Given the description of an element on the screen output the (x, y) to click on. 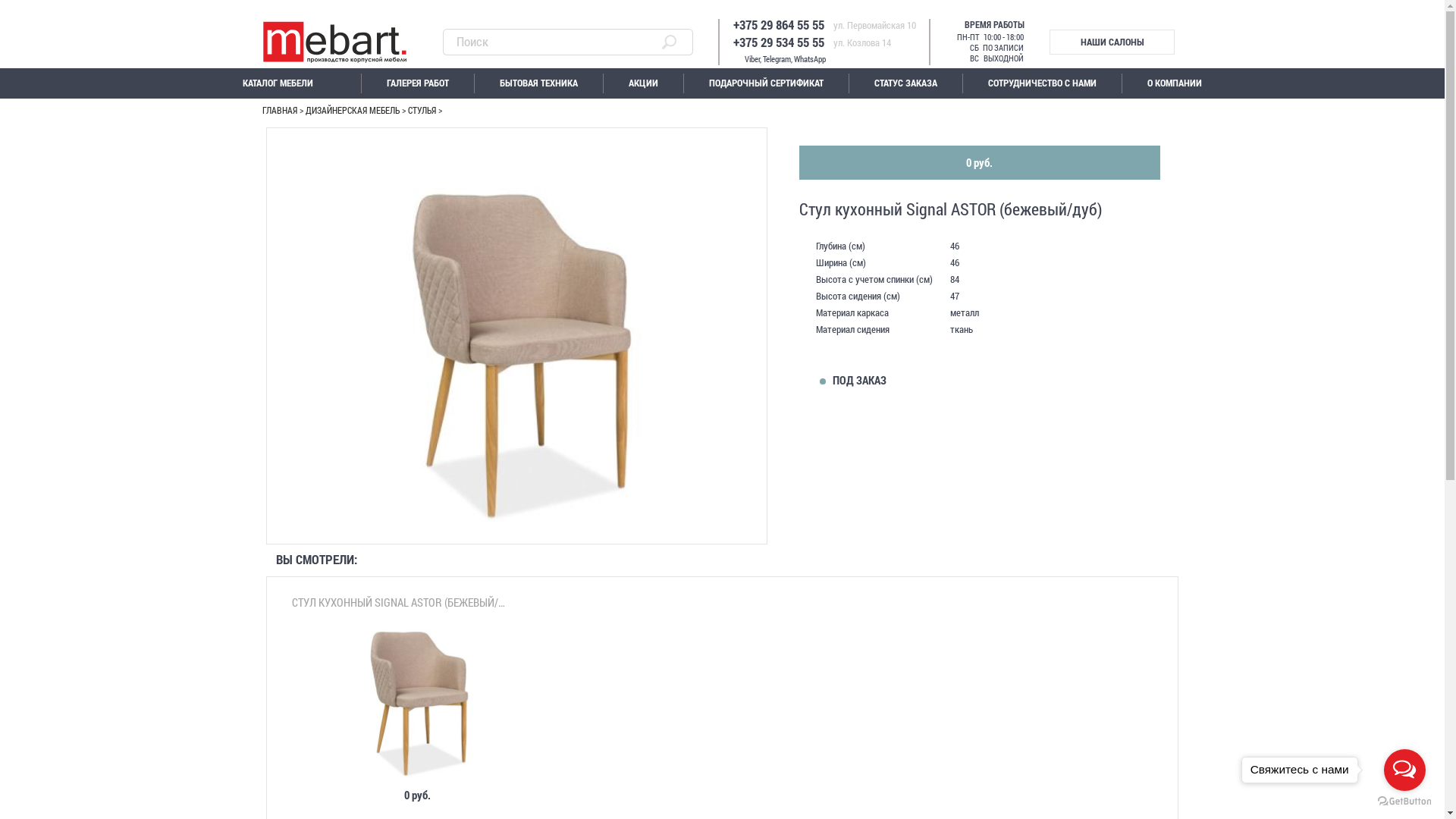
+375 29 864 55 55 Element type: text (707, 22)
+375 29 534 55 55 Element type: text (707, 38)
